Given the description of an element on the screen output the (x, y) to click on. 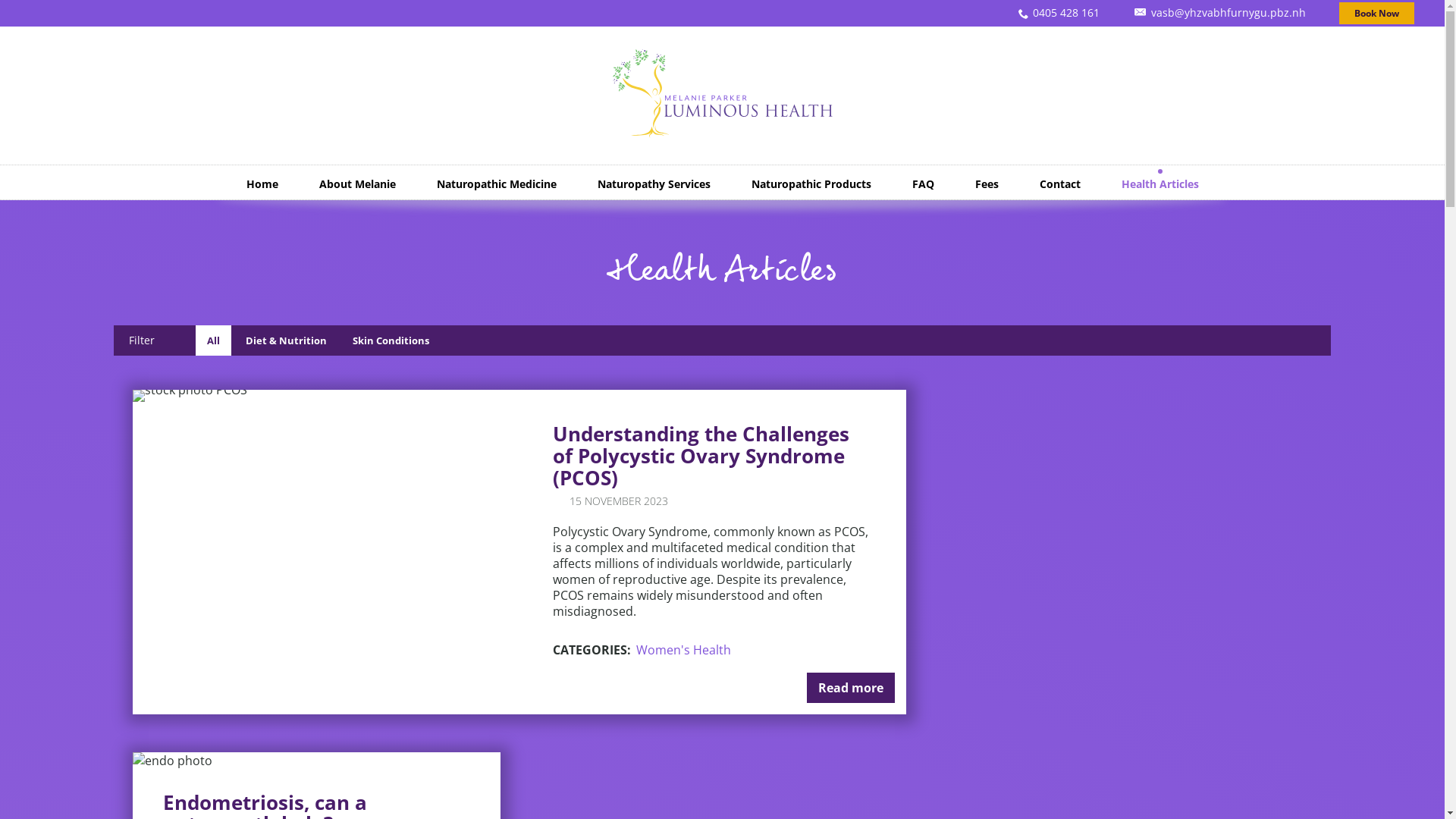
0405 428 161 Element type: text (1058, 12)
Home Element type: text (262, 183)
Contact Element type: text (1059, 183)
Naturopathic Medicine Element type: text (495, 183)
Return to the home page Element type: hover (722, 133)
Skin Conditions Element type: text (390, 340)
Naturopathy Services Element type: text (652, 183)
vasb@yhzvabhfurnygu.pbz.nh Element type: text (1218, 12)
FAQ Element type: text (923, 183)
Fees Element type: text (985, 183)
All Element type: text (213, 340)
About Melanie Element type: text (357, 183)
Health Articles Element type: text (1159, 183)
Naturopathic Products Element type: text (811, 183)
Diet & Nutrition Element type: text (286, 340)
Book Now Element type: text (1376, 13)
Read more Element type: text (850, 687)
